Given the description of an element on the screen output the (x, y) to click on. 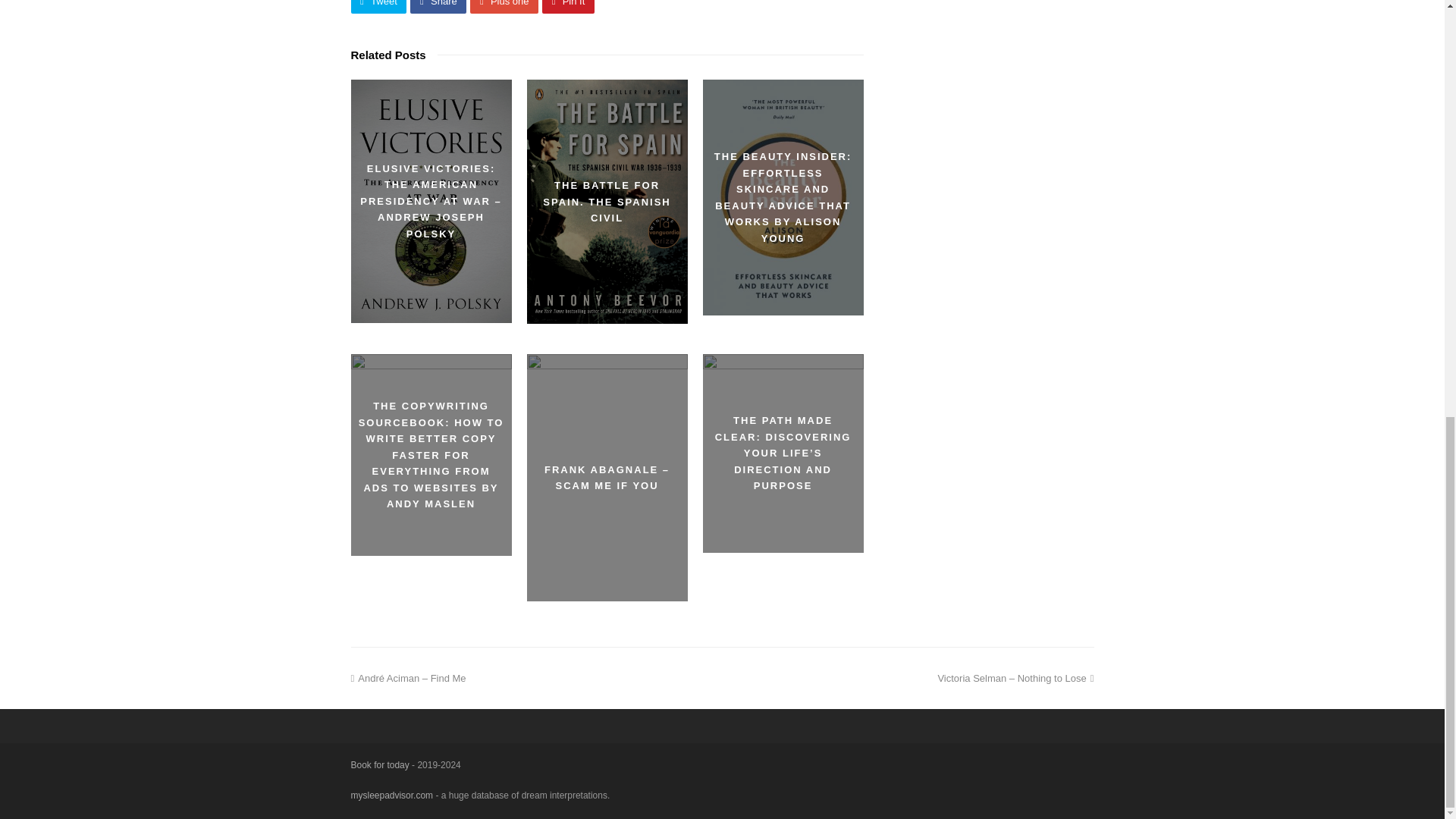
Share on Pinterest (567, 6)
Share on Twitter (378, 6)
Tweet (378, 6)
Share (437, 6)
mysleepadvisor.com (391, 795)
Pin It (567, 6)
Share on Facebook (437, 6)
Book for today (379, 765)
Plus one (504, 6)
